Given the description of an element on the screen output the (x, y) to click on. 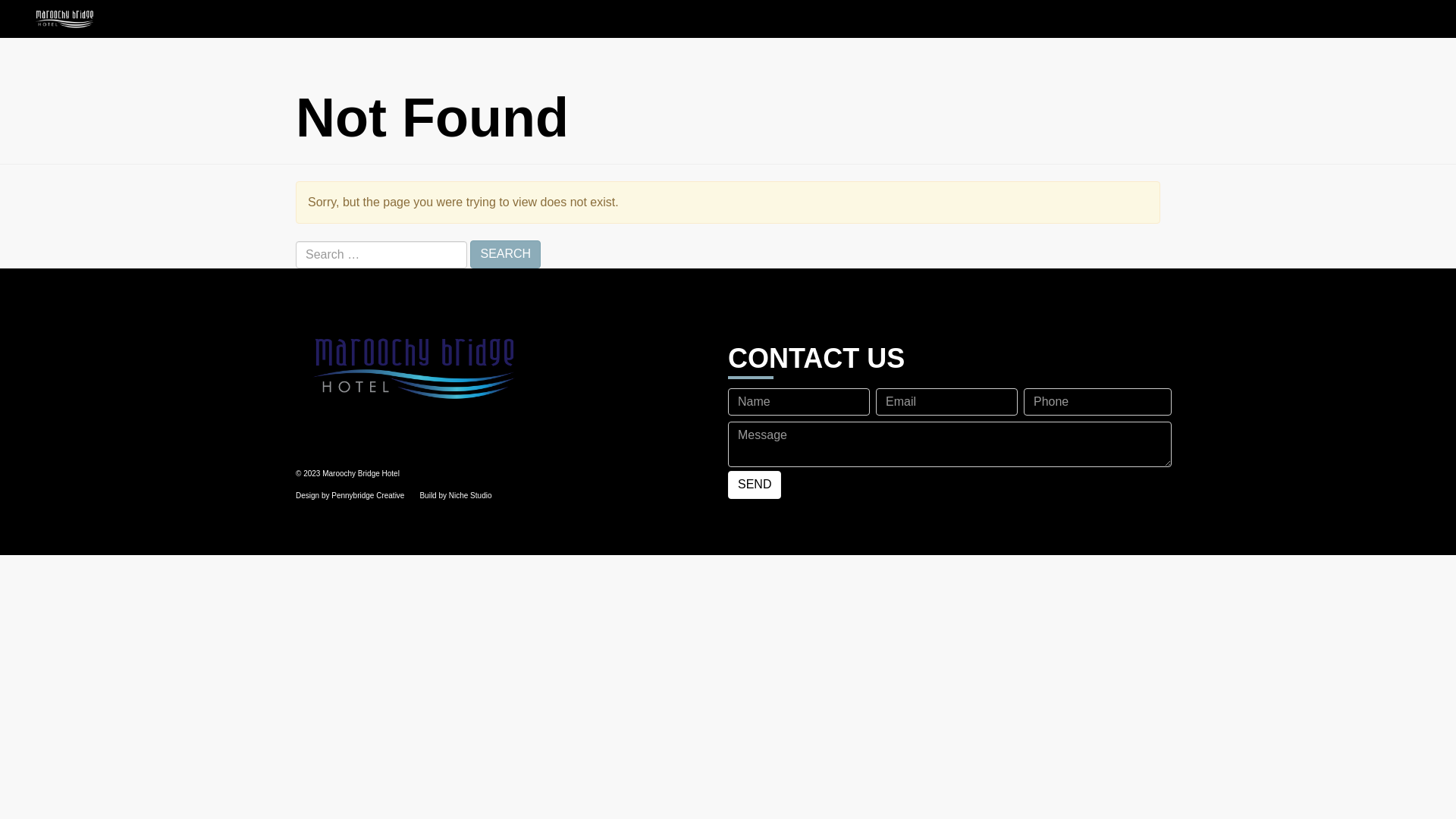
Maroochy Bridge Hotel Element type: text (505, 366)
Design by Pennybridge Creative Element type: text (349, 495)
Search Element type: text (505, 254)
Build by Niche Studio Element type: text (455, 495)
Send Element type: text (754, 484)
Maroochy Bridge Hotel Element type: text (64, 18)
